Given the description of an element on the screen output the (x, y) to click on. 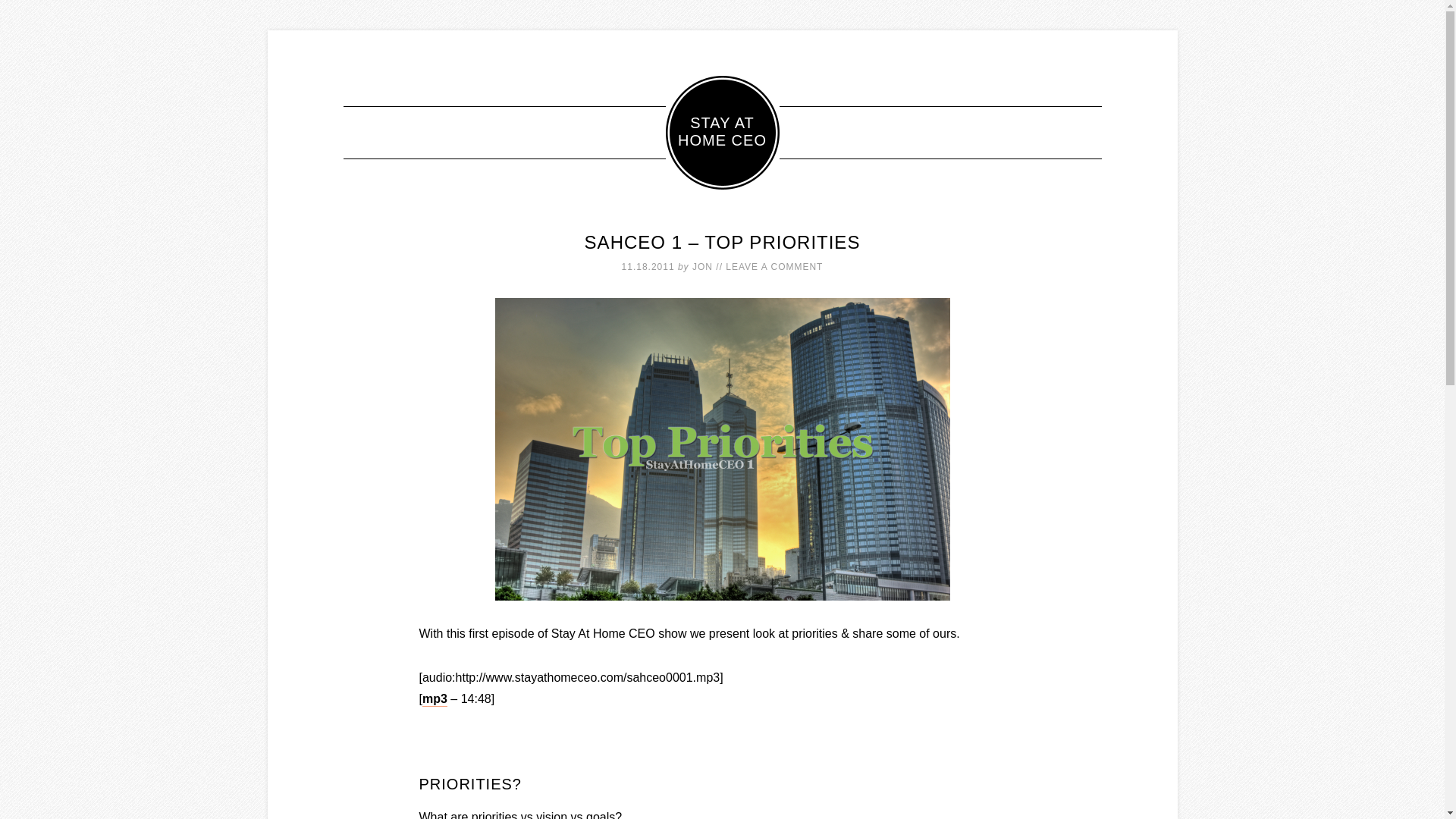
STAY AT HOME CEO (721, 133)
mp3 (434, 699)
JON (703, 266)
LEAVE A COMMENT (773, 266)
